Given the description of an element on the screen output the (x, y) to click on. 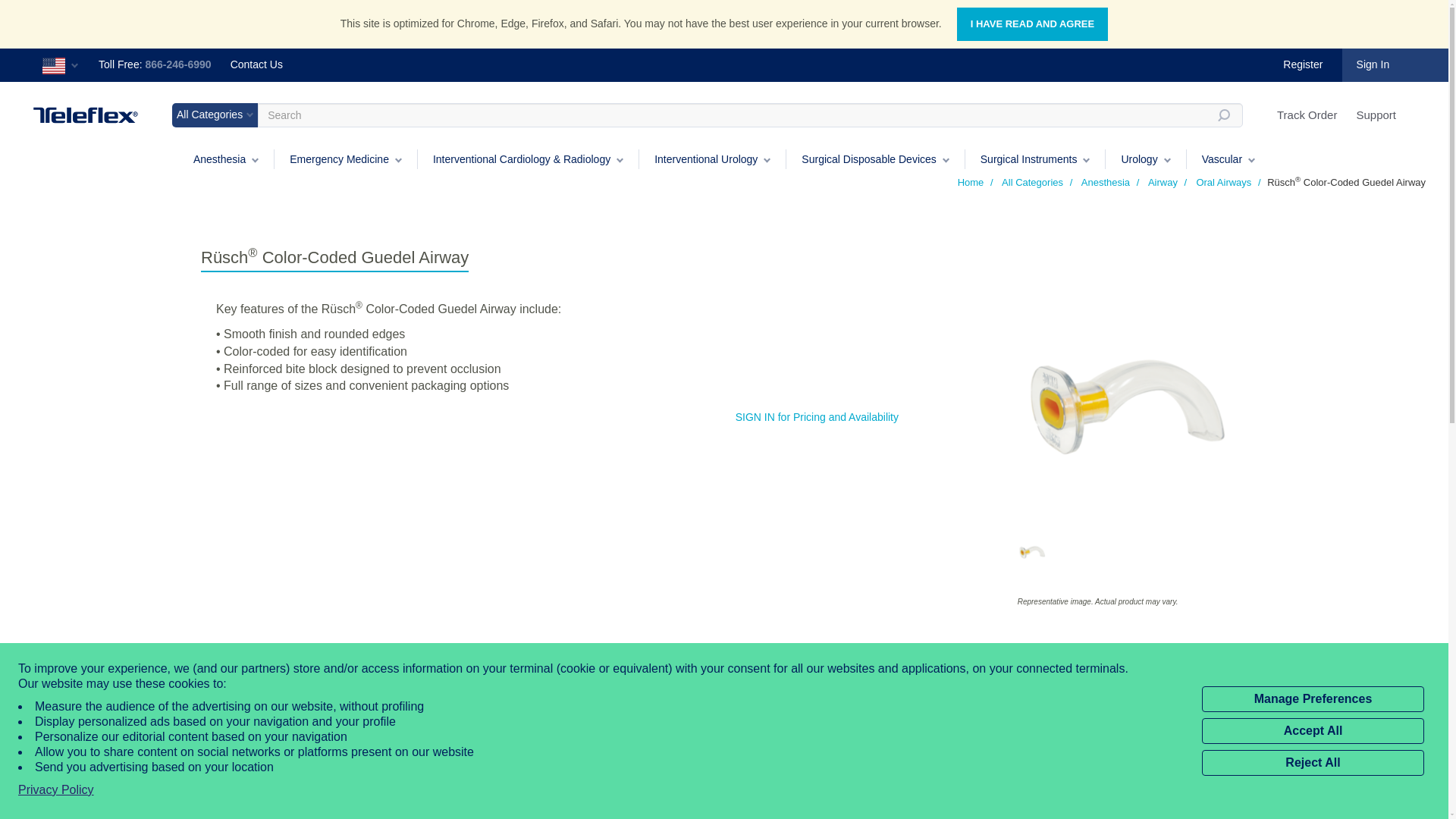
Manage Preferences (1312, 698)
Anesthesia (226, 158)
Anesthesia (226, 158)
Privacy Policy (55, 789)
866-246-6990 (177, 64)
CONTACT US (256, 64)
Register (1302, 64)
Contact Us (256, 64)
Accept All (1312, 730)
I HAVE READ AND AGREE (1032, 23)
